Given the description of an element on the screen output the (x, y) to click on. 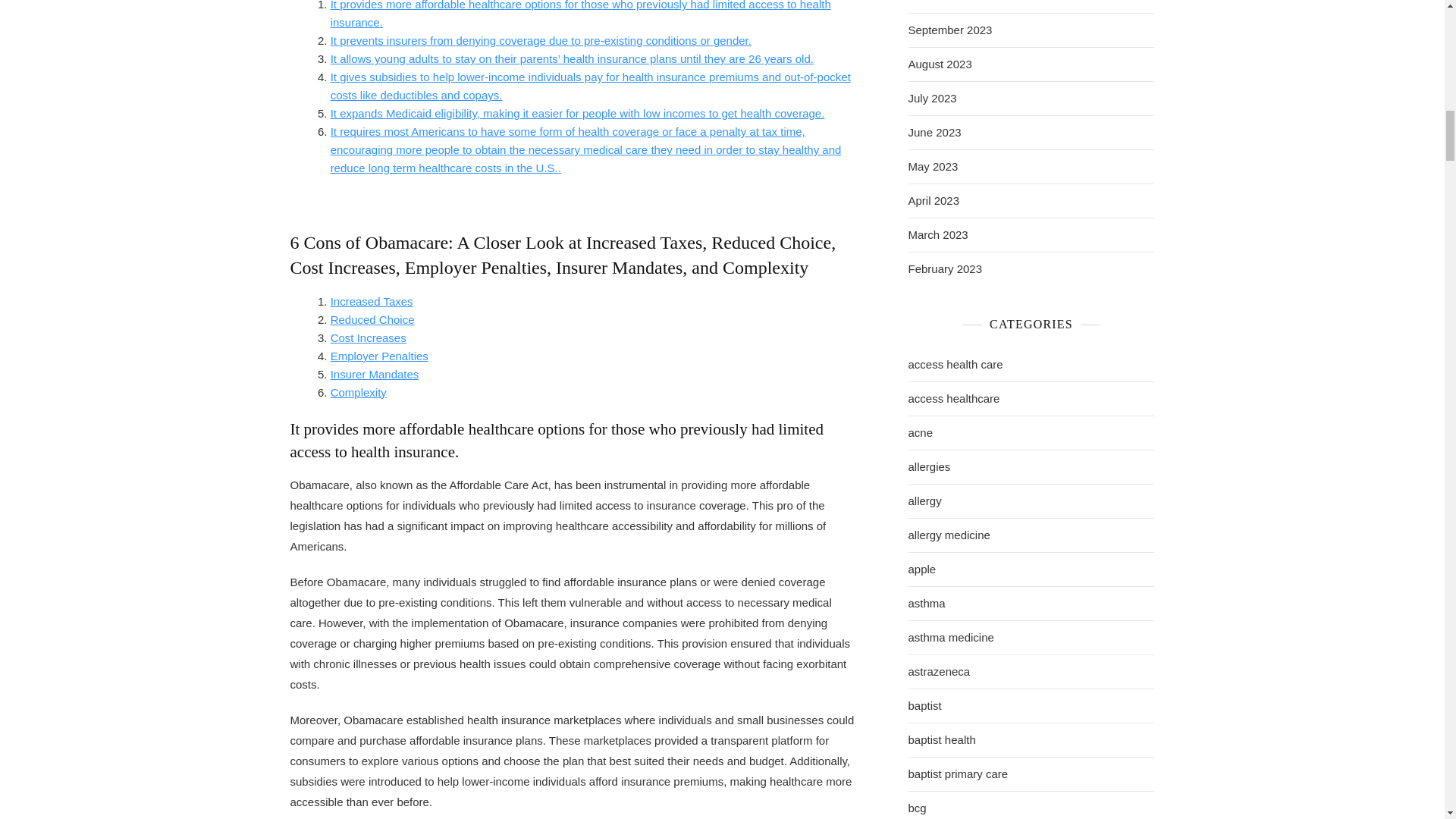
Increased Taxes (371, 300)
Cost Increases (368, 337)
Complexity (358, 391)
Insurer Mandates (374, 373)
Employer Penalties (379, 355)
Reduced Choice (372, 318)
